Given the description of an element on the screen output the (x, y) to click on. 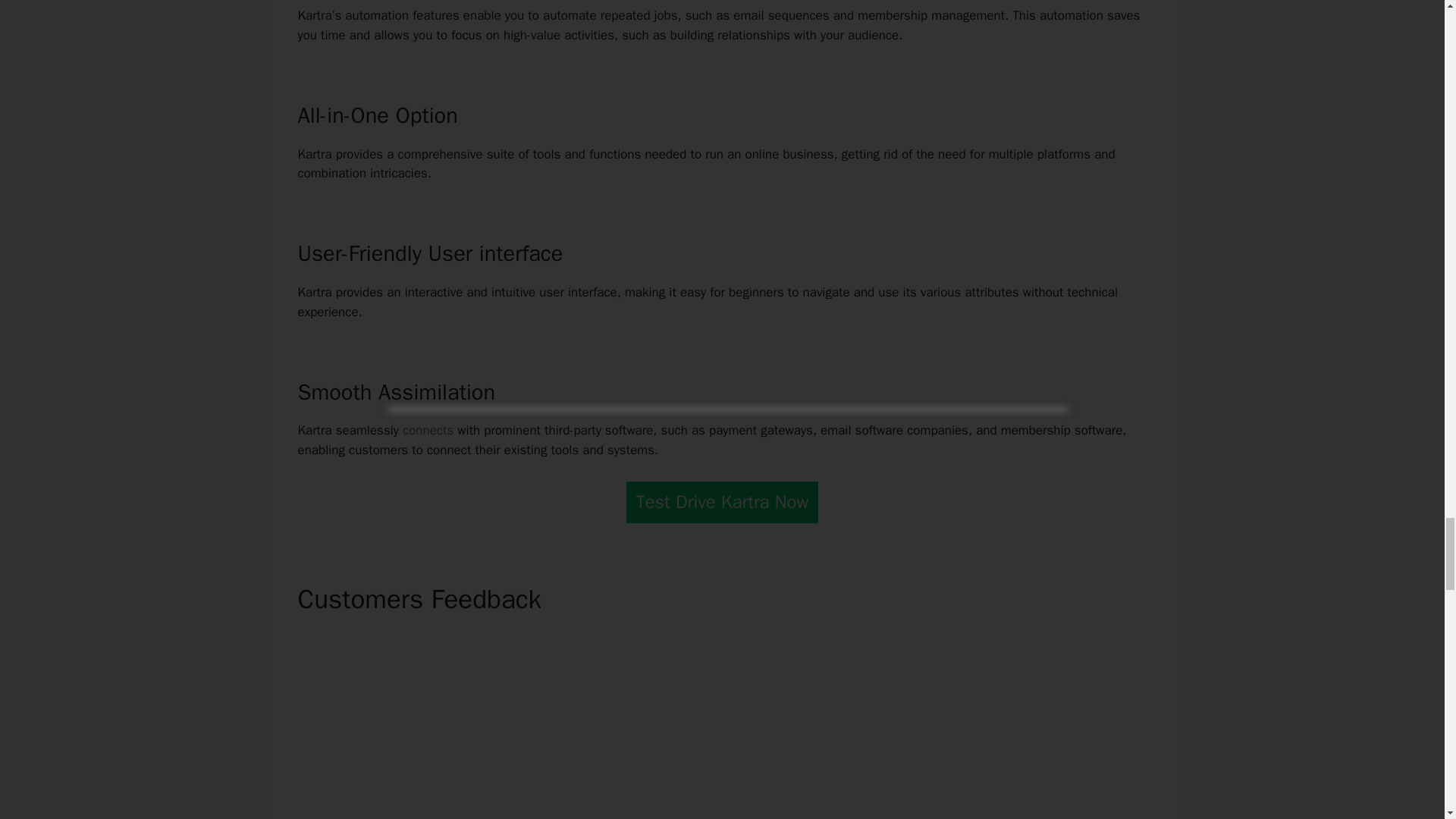
connects (427, 430)
Test Drive Kartra Now (722, 502)
